Given the description of an element on the screen output the (x, y) to click on. 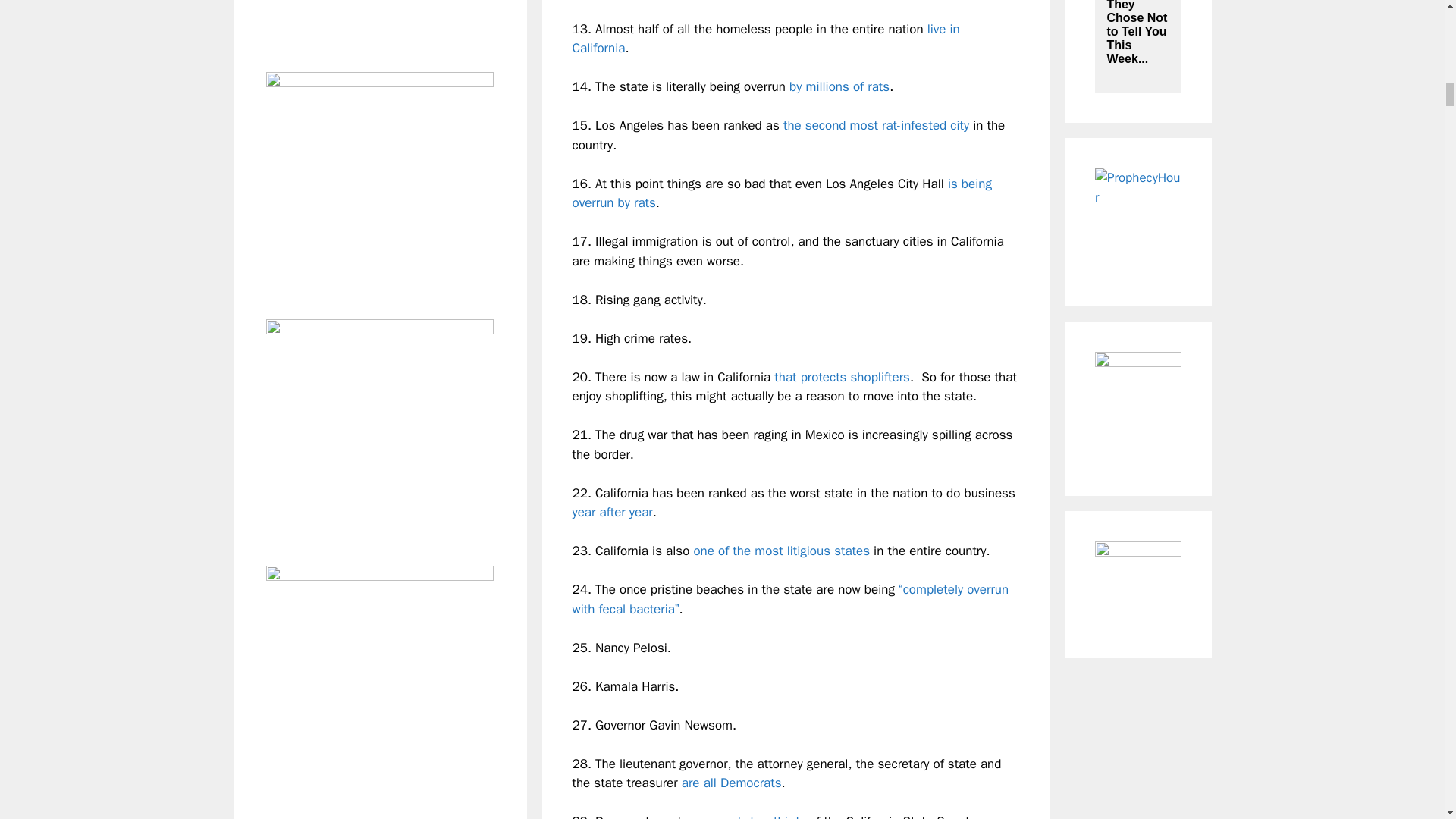
is being overrun by rats (781, 193)
are all Democrats (731, 782)
year after year (612, 512)
the second most rat-infested city (876, 125)
the second most rat-infested city (876, 125)
has become overrun by rats (781, 193)
one of the most litigious states (781, 550)
live in California (765, 38)
live in California (765, 38)
by millions of rats (839, 86)
